Given the description of an element on the screen output the (x, y) to click on. 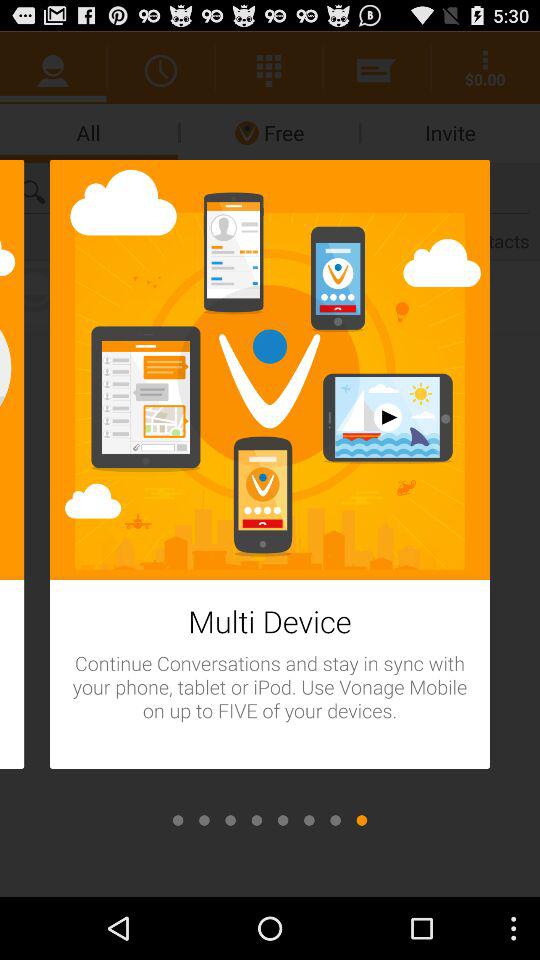
go to previous (335, 820)
